Given the description of an element on the screen output the (x, y) to click on. 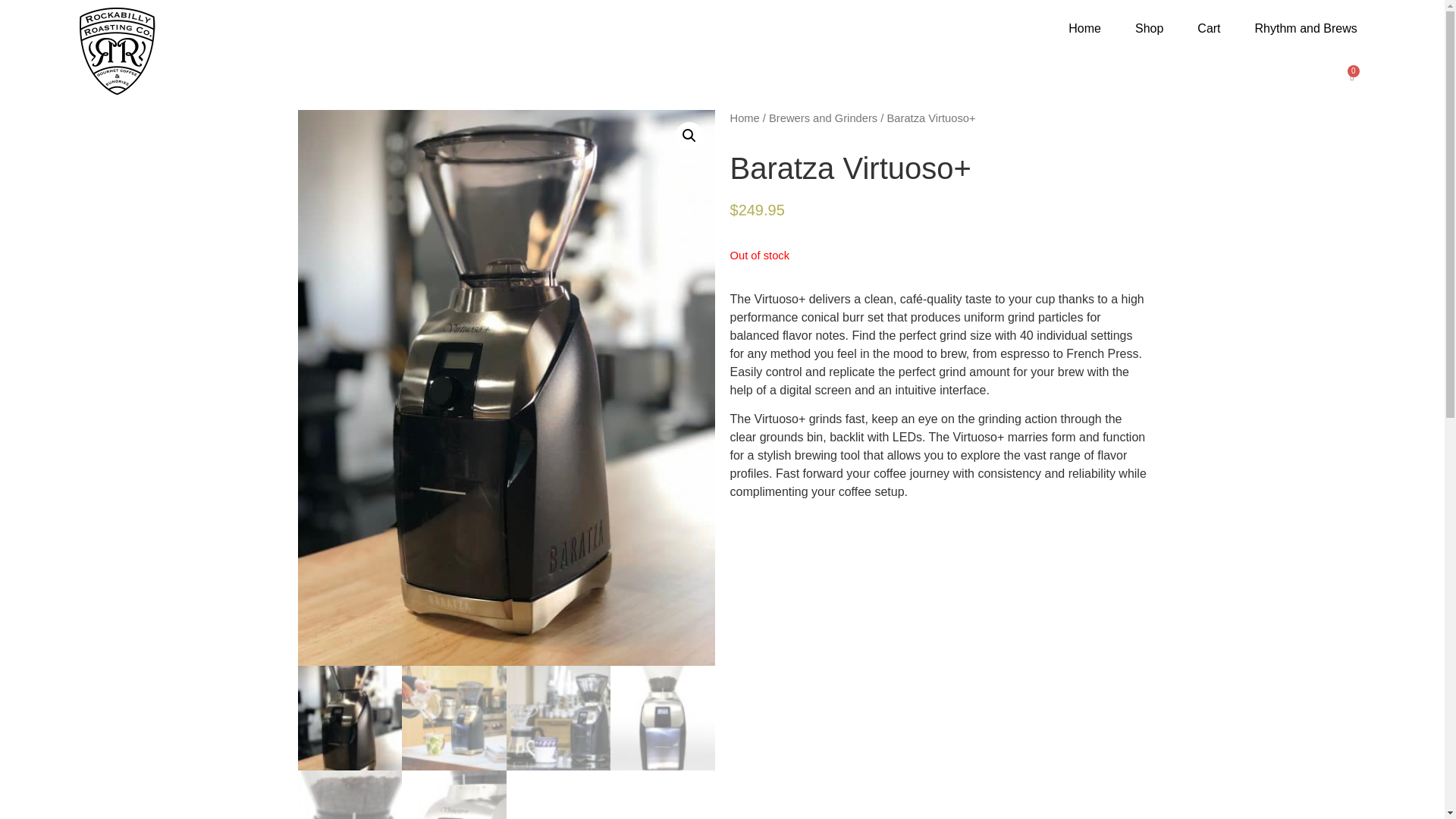
Rhythm and Brews (1306, 27)
Shop (1148, 27)
Cart (1208, 27)
0 (1351, 75)
Home (1084, 27)
